Given the description of an element on the screen output the (x, y) to click on. 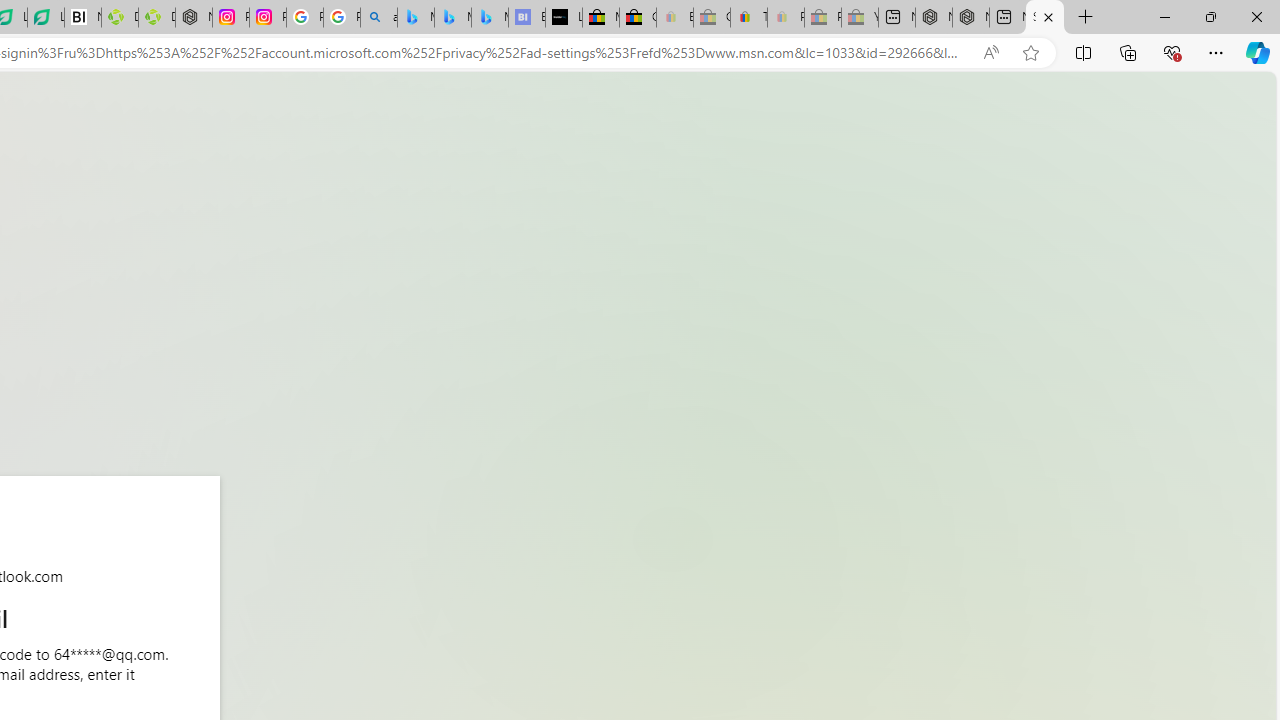
LendingTree - Compare Lenders (45, 17)
Payments Terms of Use | eBay.com - Sleeping (785, 17)
Threats and offensive language policy | eBay (748, 17)
